Given the description of an element on the screen output the (x, y) to click on. 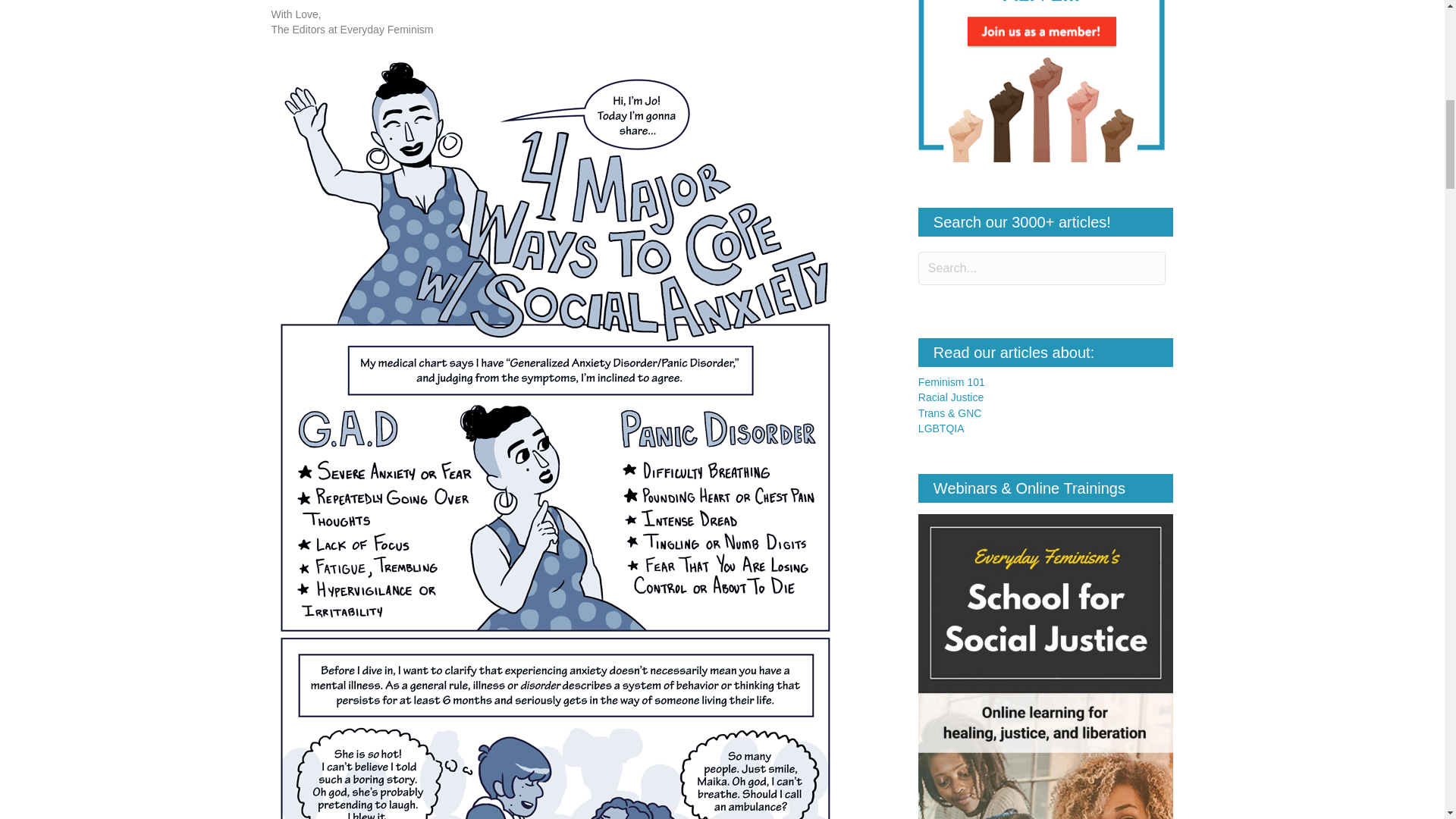
Feminism 101 (951, 381)
LGBTQIA (940, 428)
Racial Justice (951, 397)
